Given the description of an element on the screen output the (x, y) to click on. 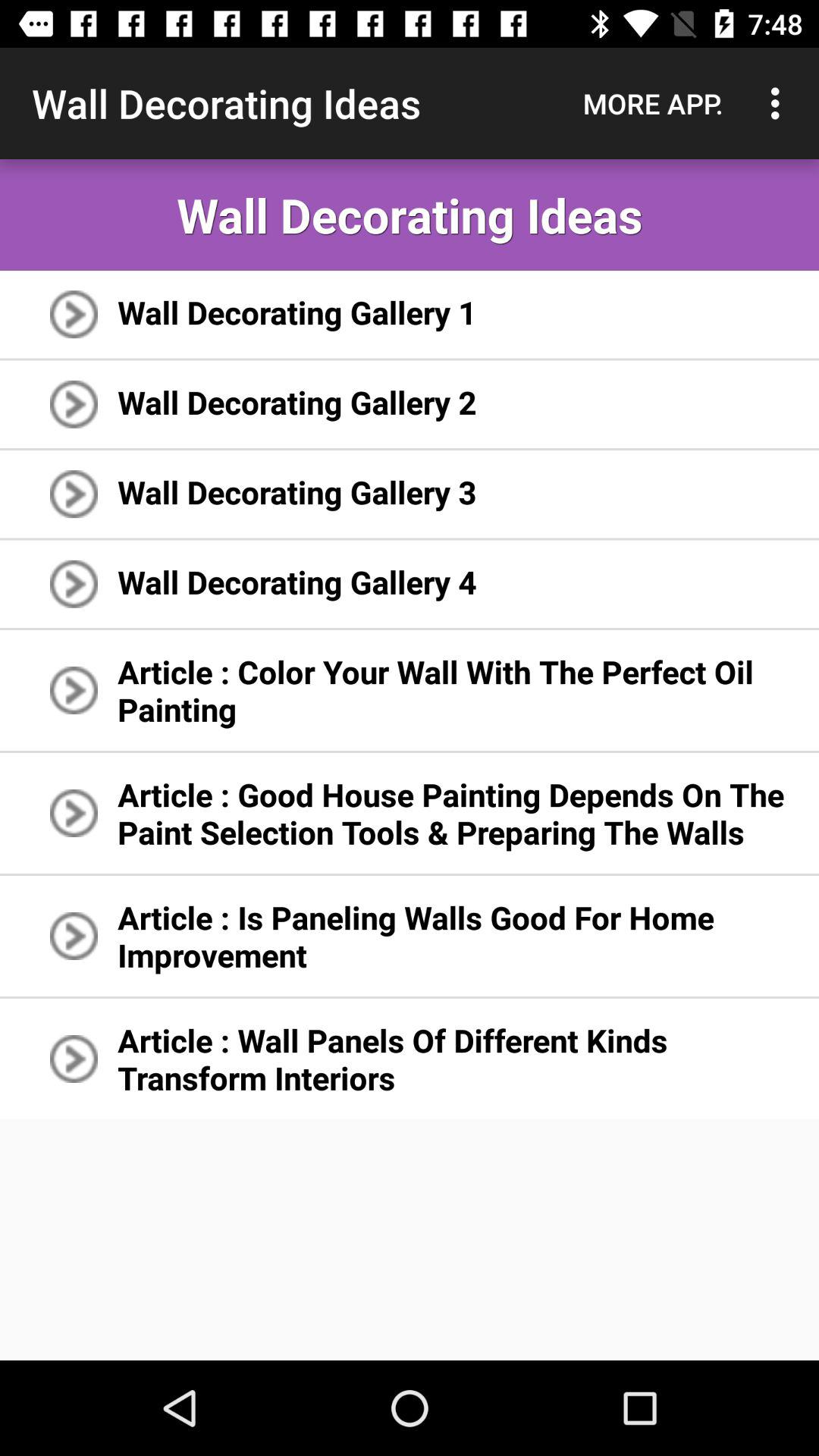
scroll to more app. (653, 103)
